Given the description of an element on the screen output the (x, y) to click on. 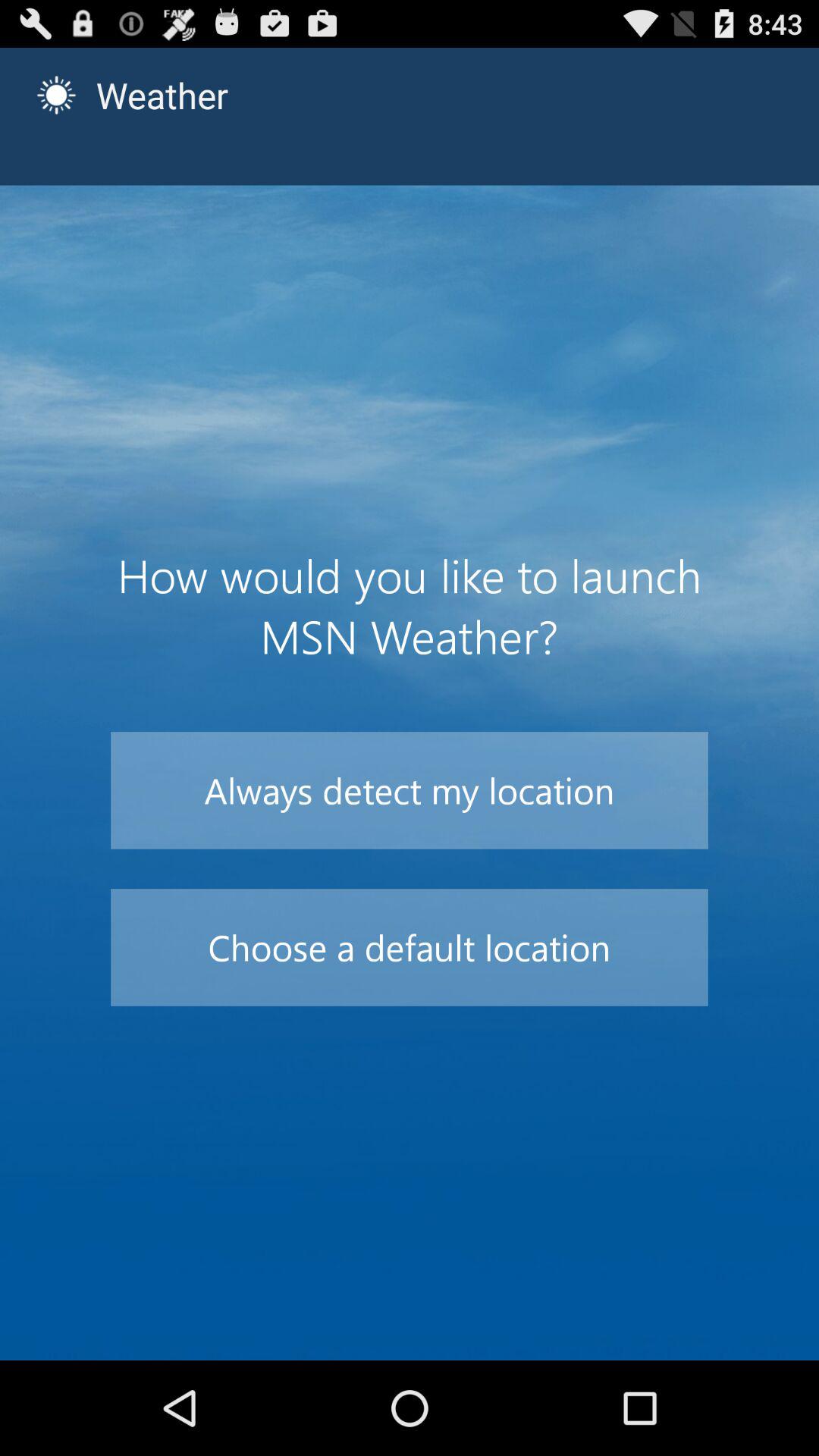
select choose a default item (409, 947)
